Given the description of an element on the screen output the (x, y) to click on. 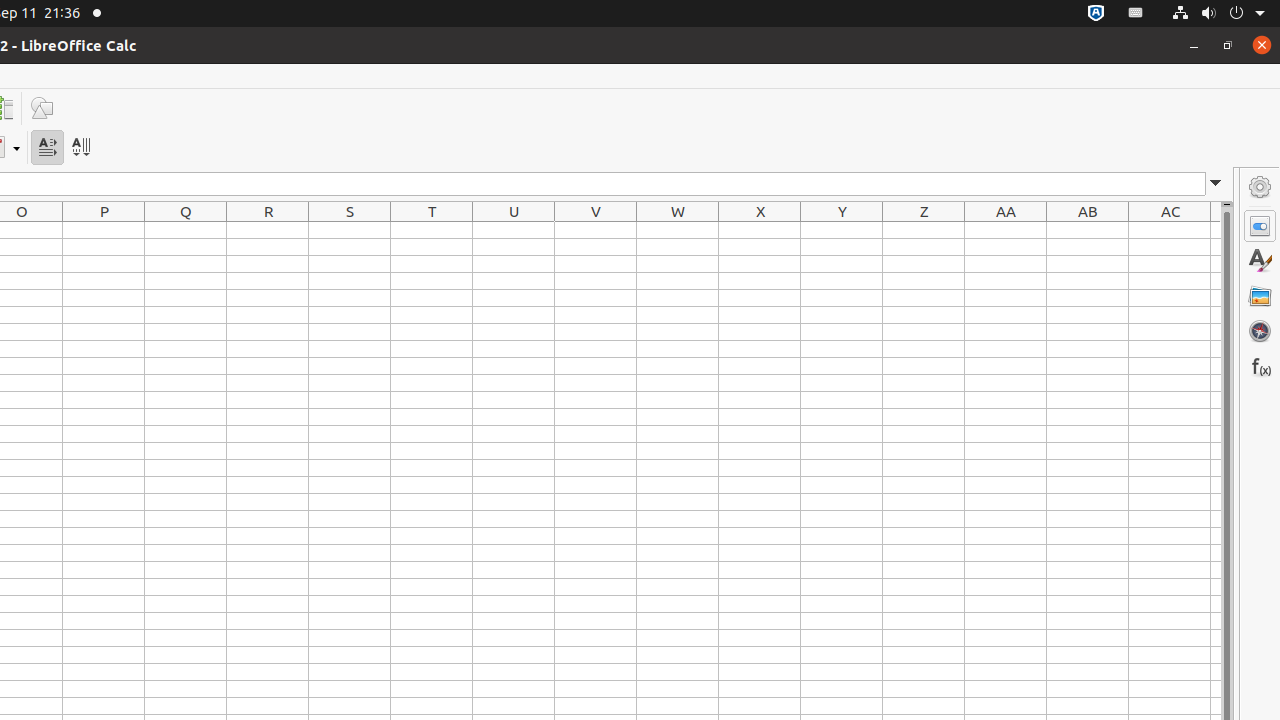
Text direction from left to right Element type: toggle-button (47, 147)
Functions Element type: radio-button (1260, 366)
X1 Element type: table-cell (760, 230)
P1 Element type: table-cell (104, 230)
